Given the description of an element on the screen output the (x, y) to click on. 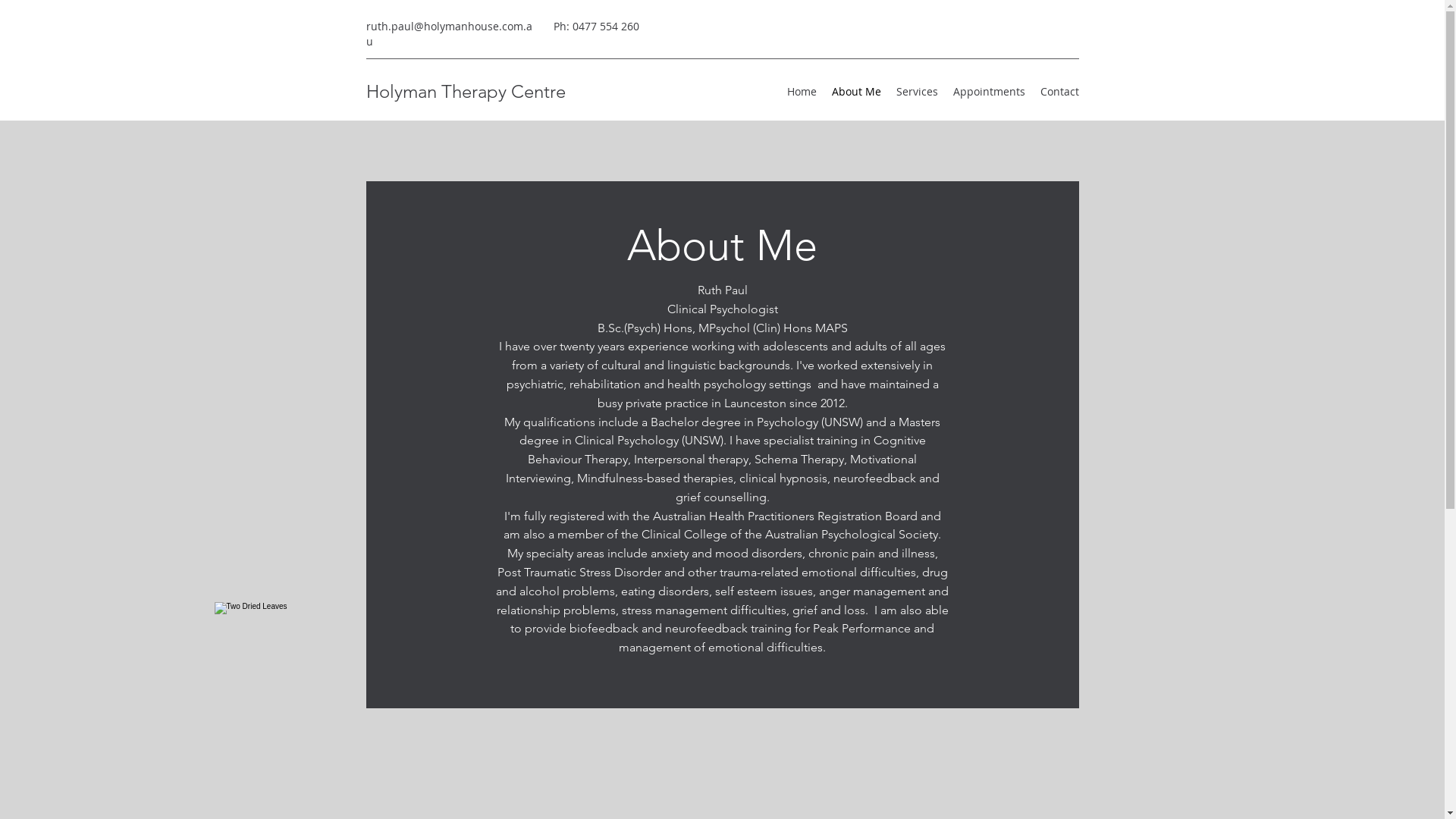
Services Element type: text (916, 91)
About Me Element type: text (855, 91)
ruth.paul@holymanhouse.com.au Element type: text (448, 33)
Appointments Element type: text (988, 91)
Home Element type: text (801, 91)
Contact Element type: text (1059, 91)
